Given the description of an element on the screen output the (x, y) to click on. 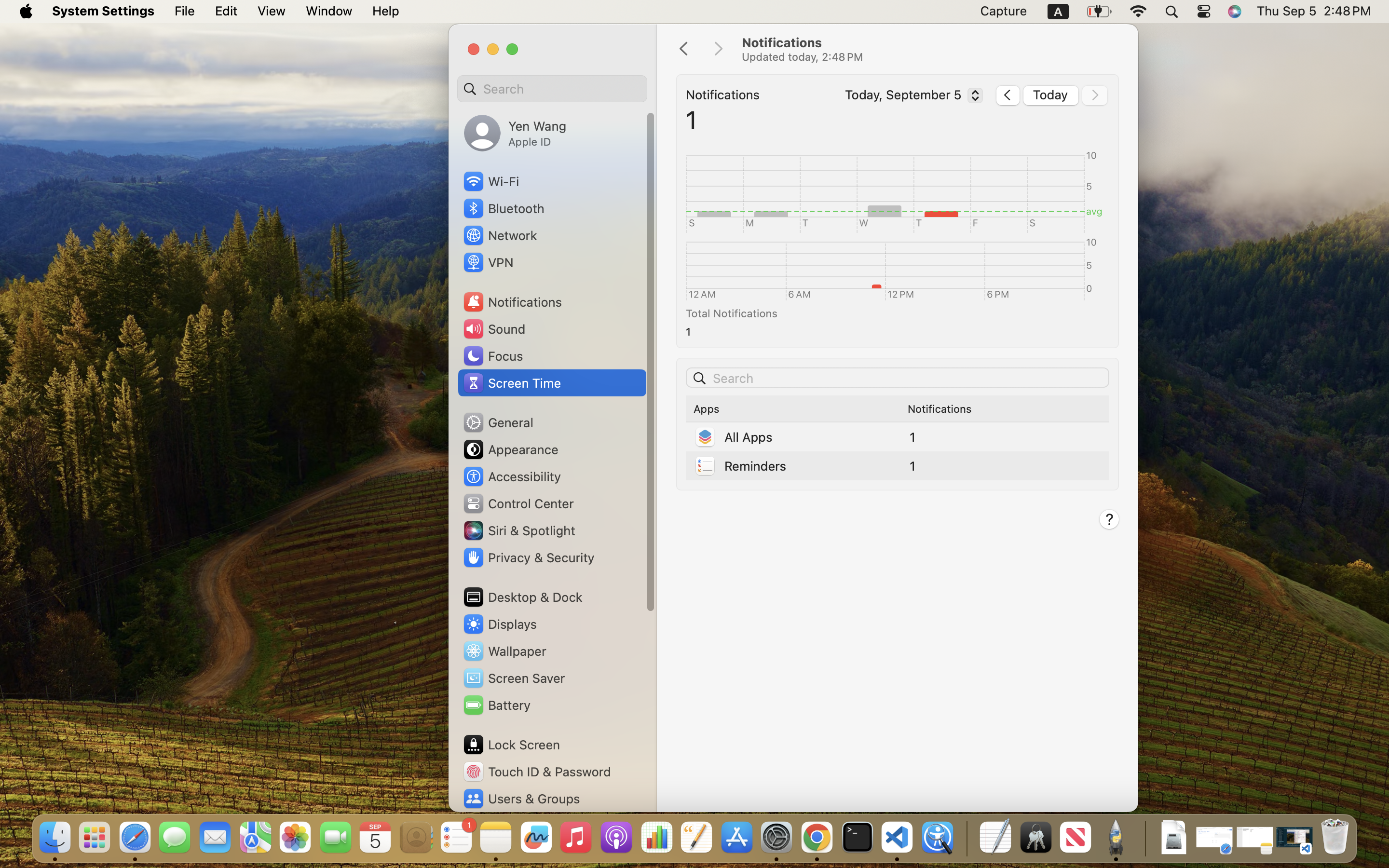
General Element type: AXStaticText (497, 422)
Thursday Element type: AXSlider (897, 187)
VPN Element type: AXStaticText (487, 261)
Yen Wang, Apple ID Element type: AXStaticText (514, 132)
Battery Element type: AXStaticText (496, 704)
